Given the description of an element on the screen output the (x, y) to click on. 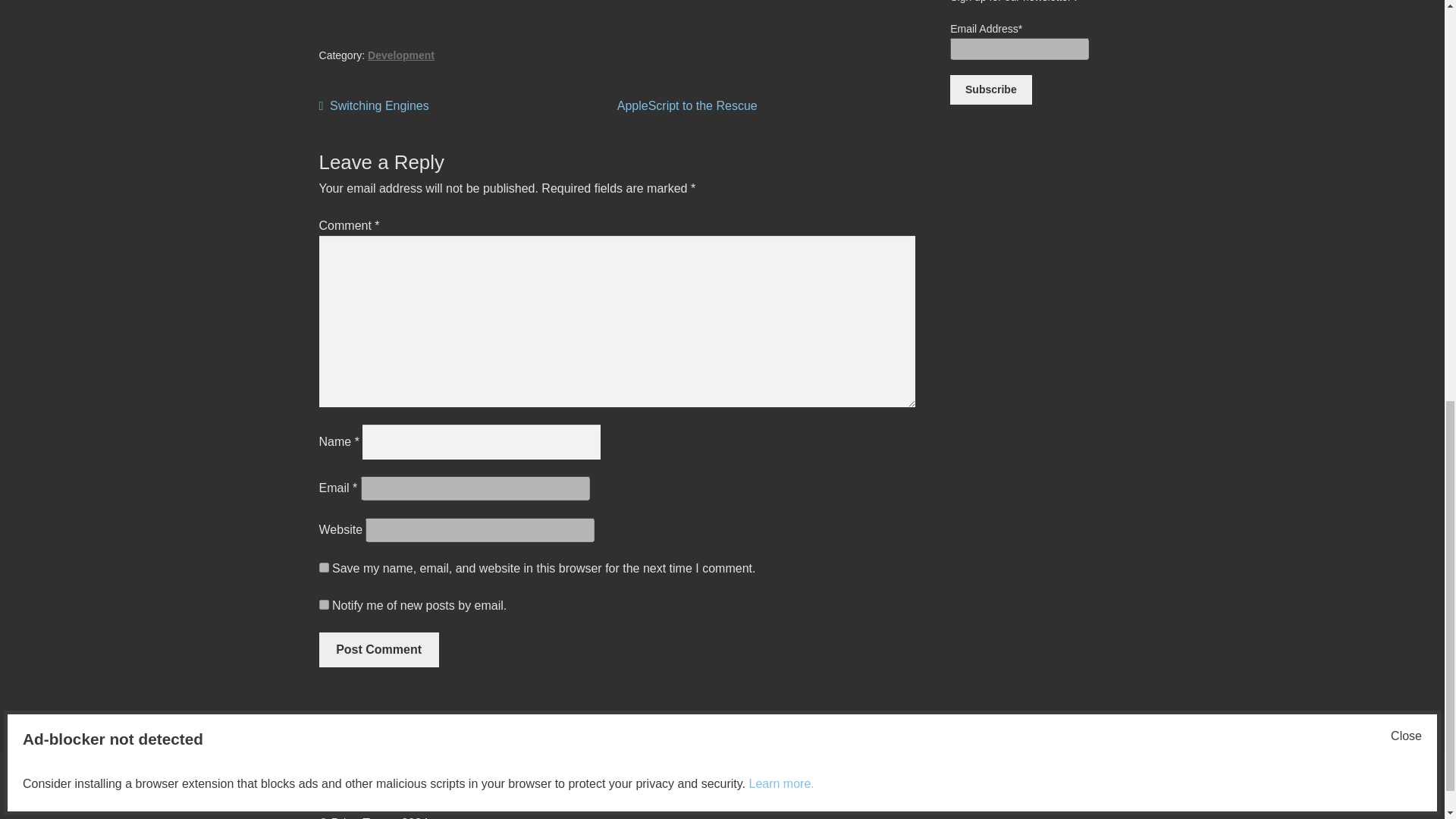
Development (400, 55)
yes (323, 567)
subscribe (323, 604)
Subscribe (990, 90)
Post Comment (687, 105)
Subscribe (378, 649)
Post Comment (373, 106)
Mastodon (990, 90)
